Given the description of an element on the screen output the (x, y) to click on. 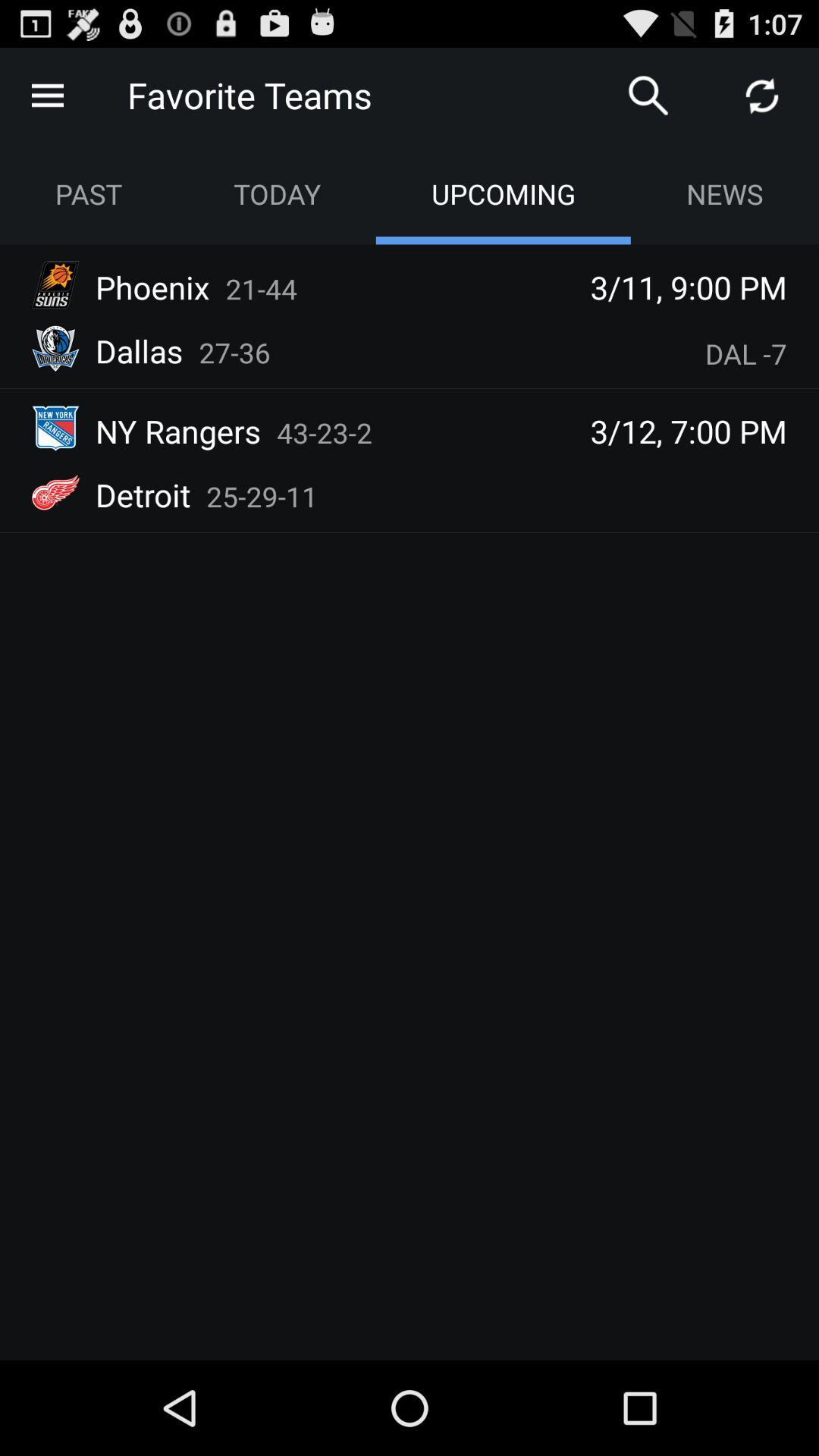
search engine (648, 95)
